Given the description of an element on the screen output the (x, y) to click on. 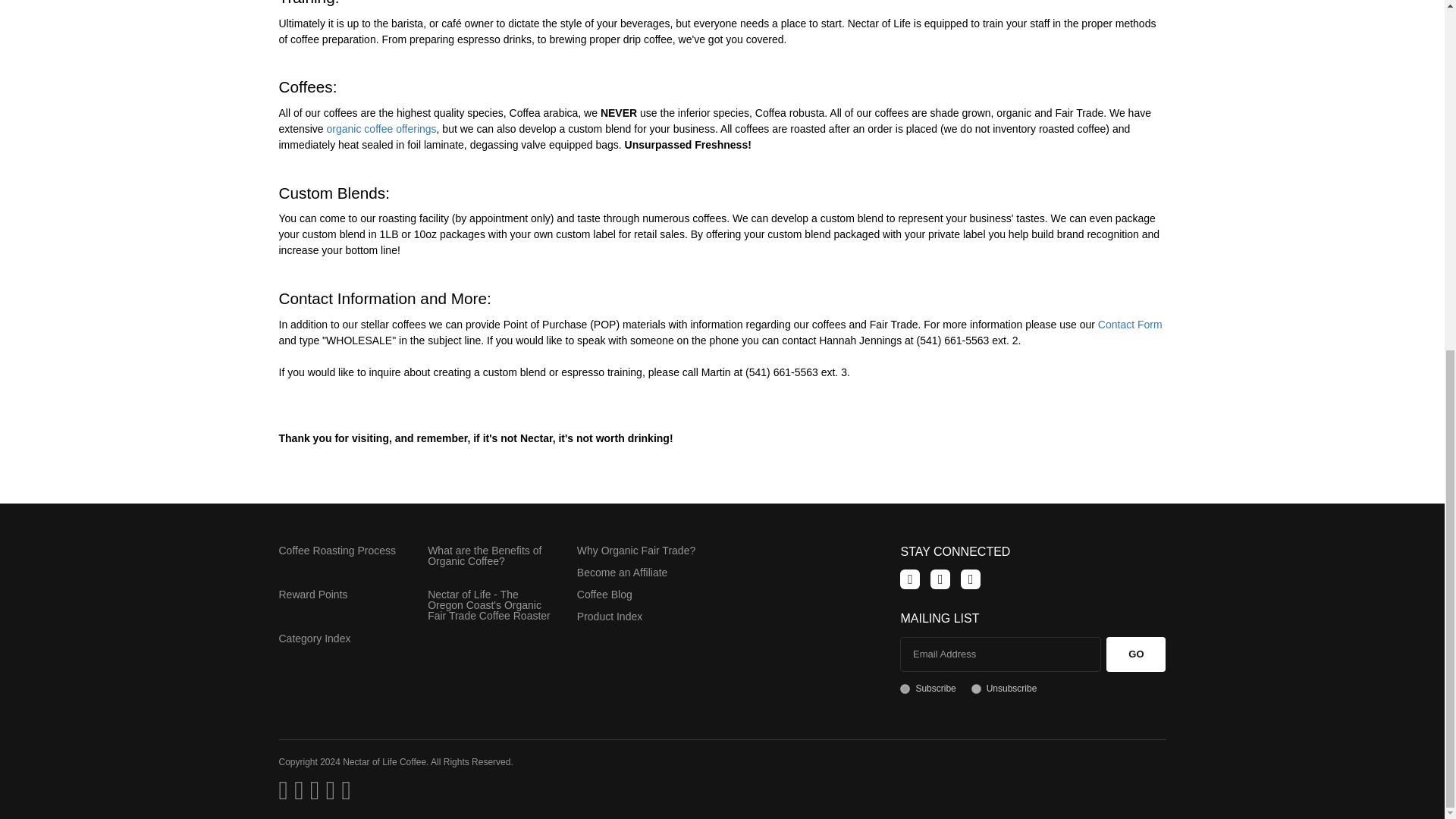
Follow Us on Pinterest (940, 578)
Follow Us on Instagram (969, 578)
Like Us on Facebook (909, 578)
1 (904, 688)
0 (976, 688)
